Given the description of an element on the screen output the (x, y) to click on. 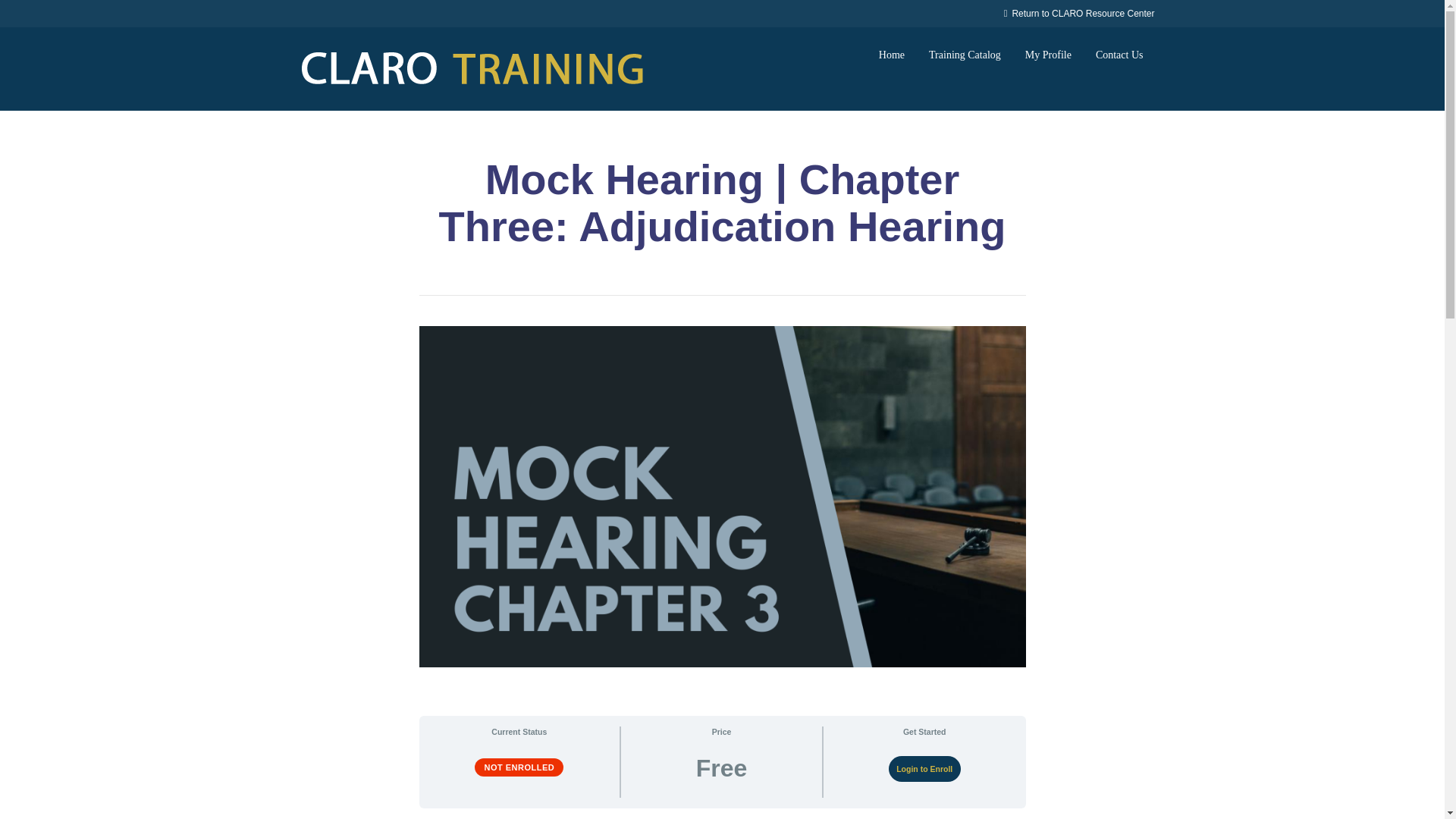
My Profile (1048, 55)
Training Catalog (964, 55)
Return to CLARO Resource Center (1079, 13)
Contact Us (1119, 55)
Login to Enroll (924, 768)
